Given the description of an element on the screen output the (x, y) to click on. 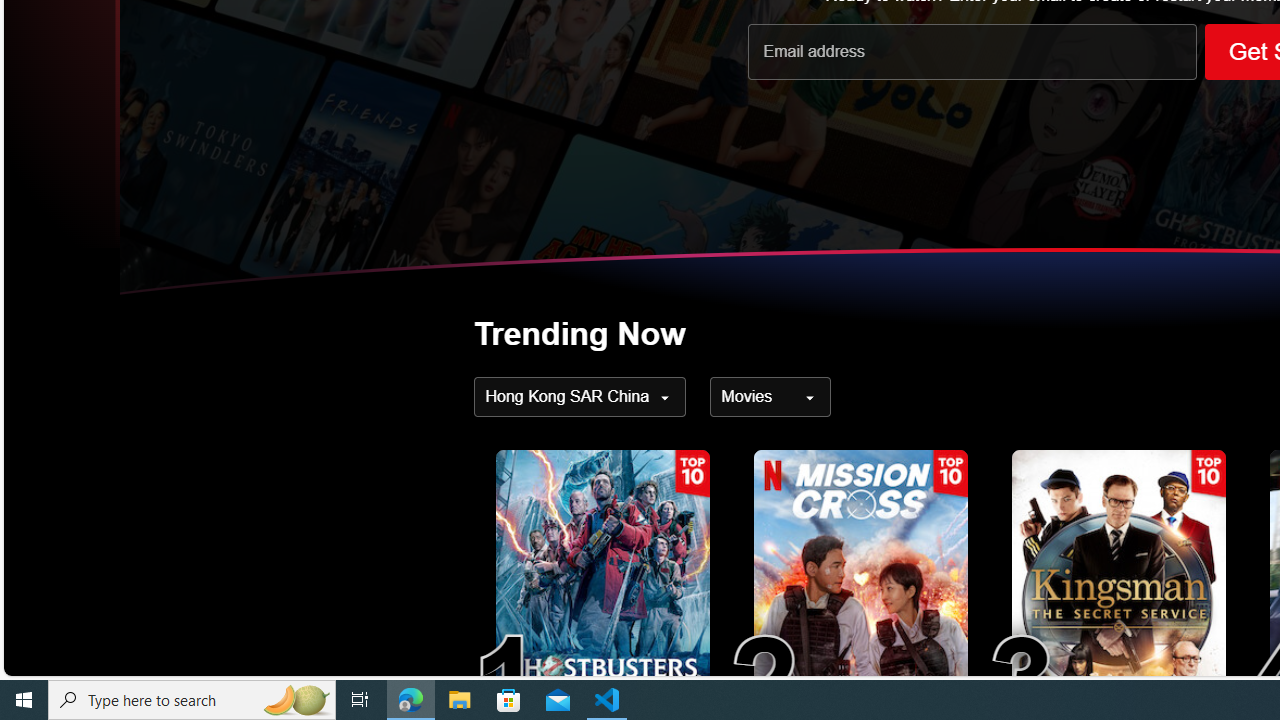
Content (769, 396)
Region (579, 396)
Email address (971, 51)
